Given the description of an element on the screen output the (x, y) to click on. 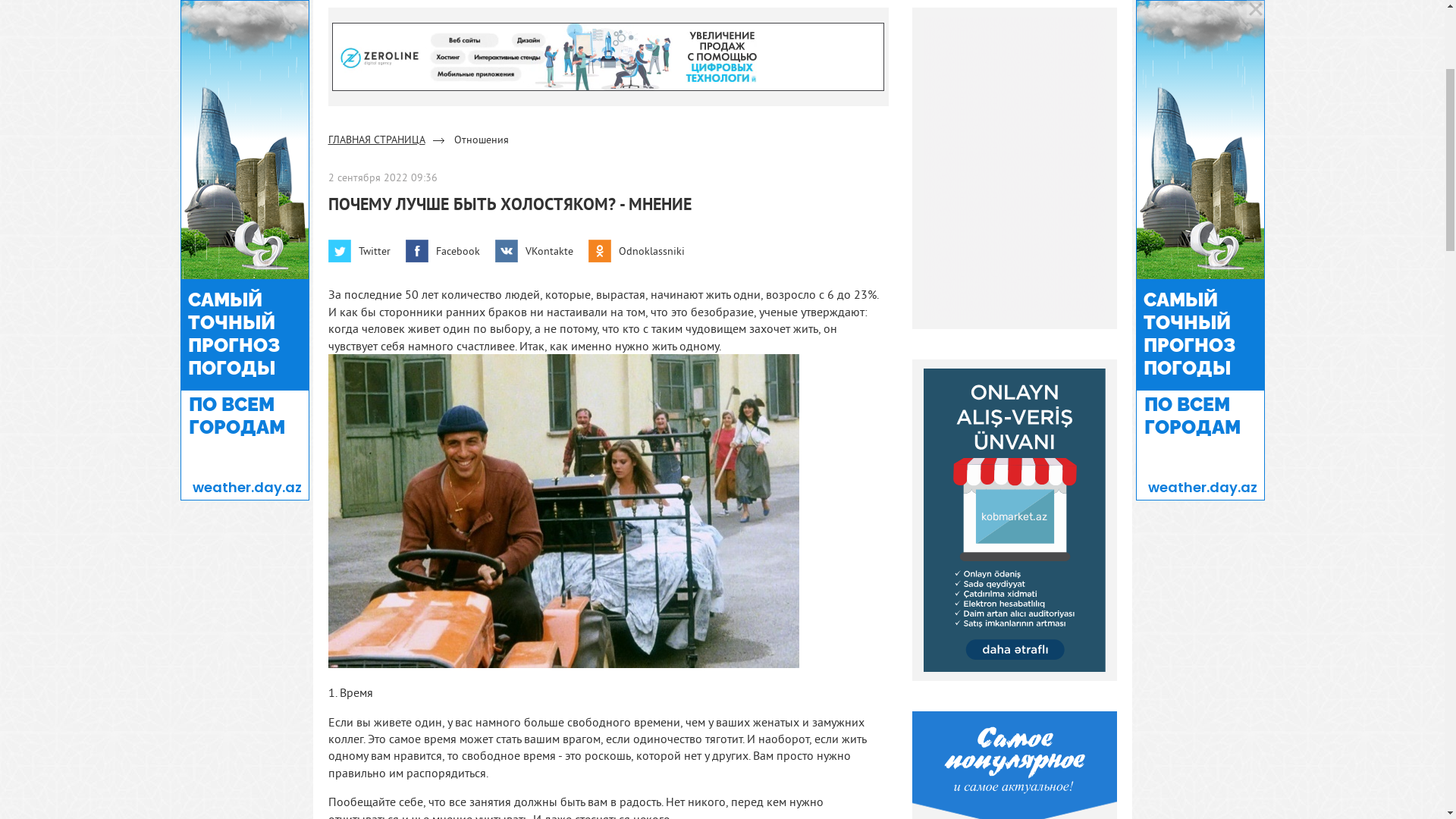
Day.Az Element type: text (337, 102)
Facebook Element type: text (441, 512)
Odnoklassniki Element type: text (636, 512)
Lady.Day.Az Element type: text (682, 102)
VKontakte Element type: text (533, 512)
3rd party ad content Element type: hover (608, 317)
NewsTube Element type: text (402, 102)
Twitter Element type: text (358, 512)
Booking Element type: text (756, 102)
3rd party ad content Element type: hover (1014, 428)
3rd party ad content Element type: hover (721, 45)
